Given the description of an element on the screen output the (x, y) to click on. 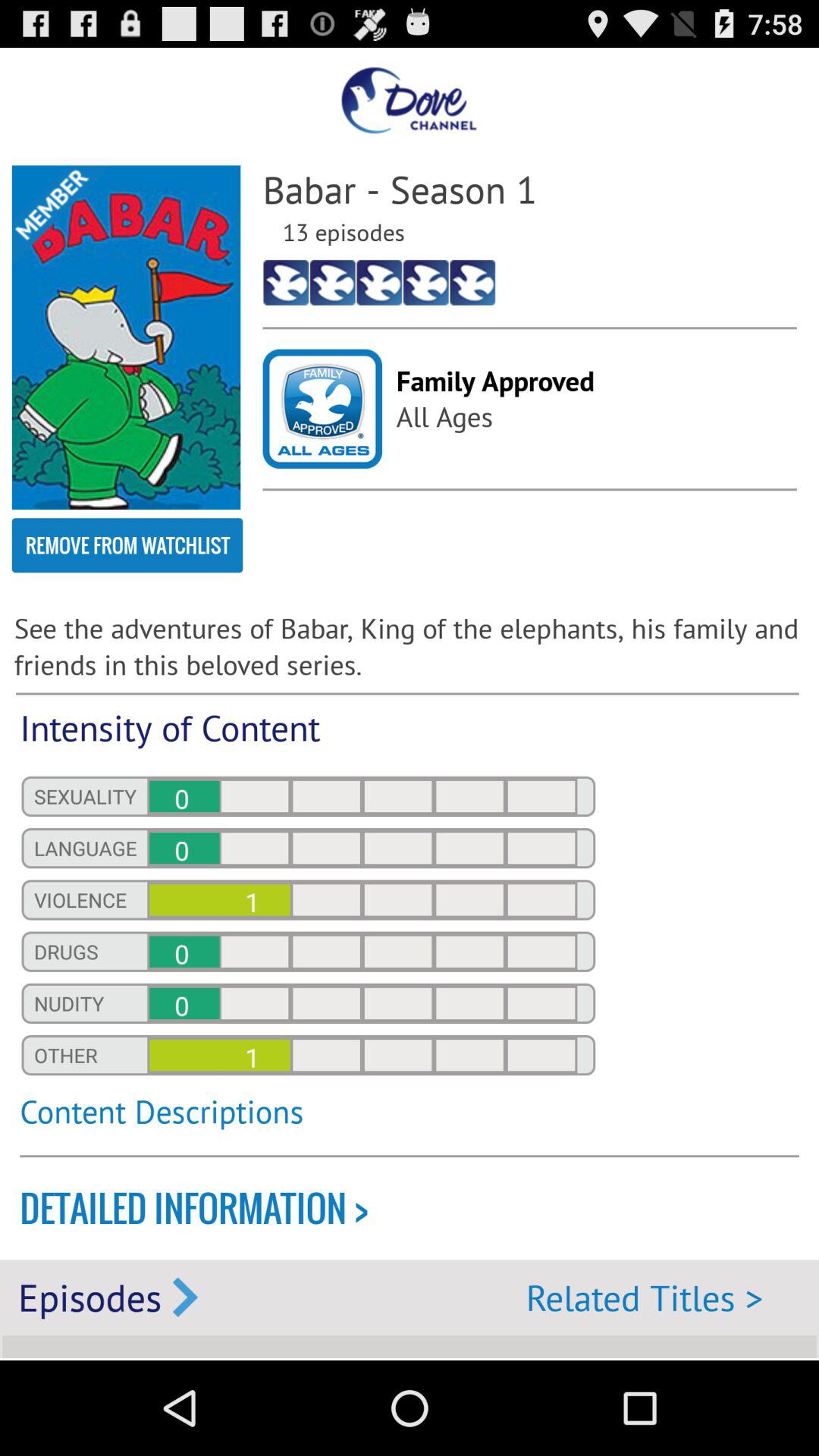
tap content descriptions (308, 1120)
